Given the description of an element on the screen output the (x, y) to click on. 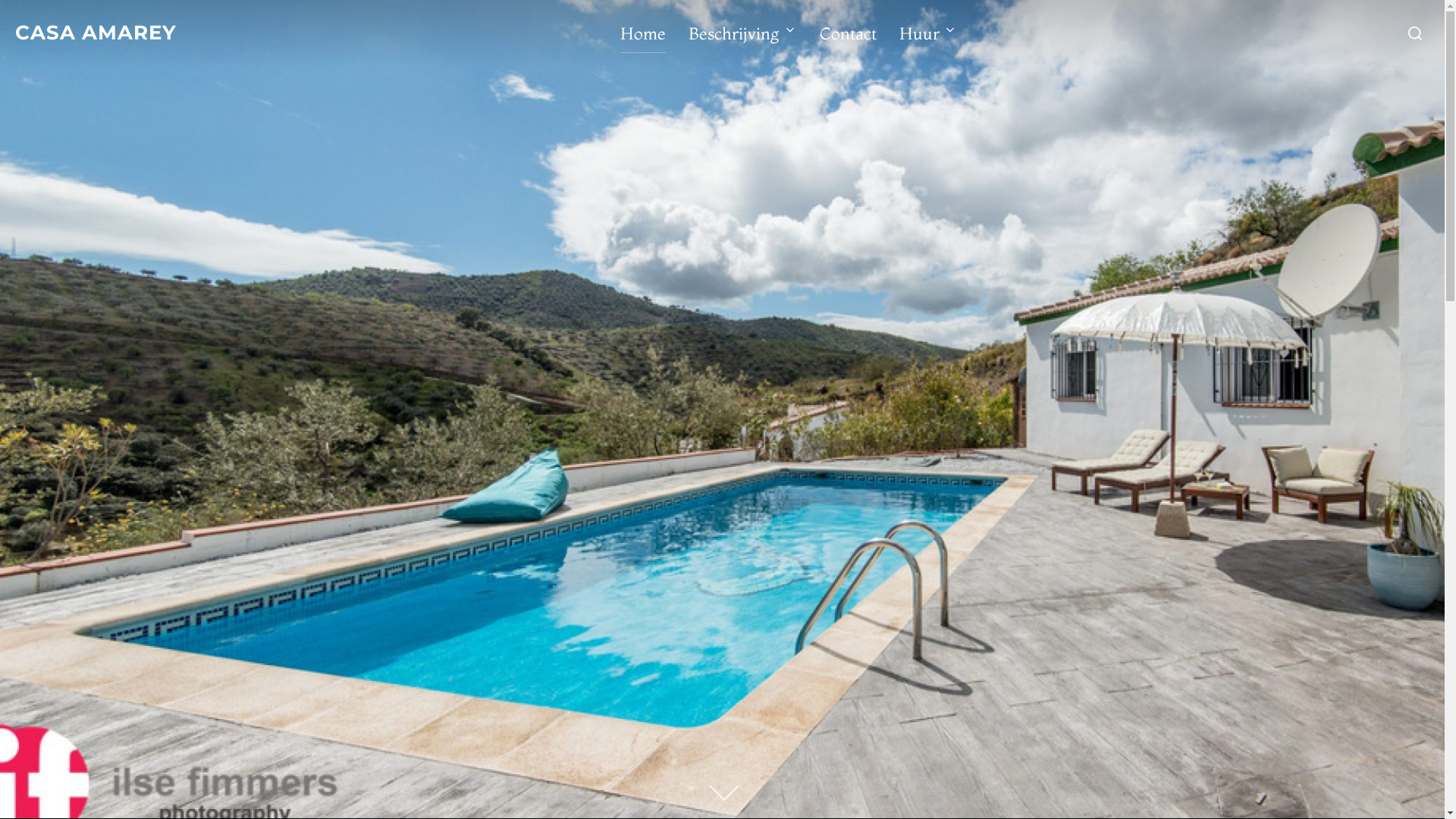
Huur Element type: text (928, 33)
Home Element type: text (642, 33)
Contact Element type: text (847, 33)
CASA AMAREY Element type: text (95, 32)
Scroll down to content Element type: hover (721, 794)
Beschrijving Element type: text (742, 33)
